Given the description of an element on the screen output the (x, y) to click on. 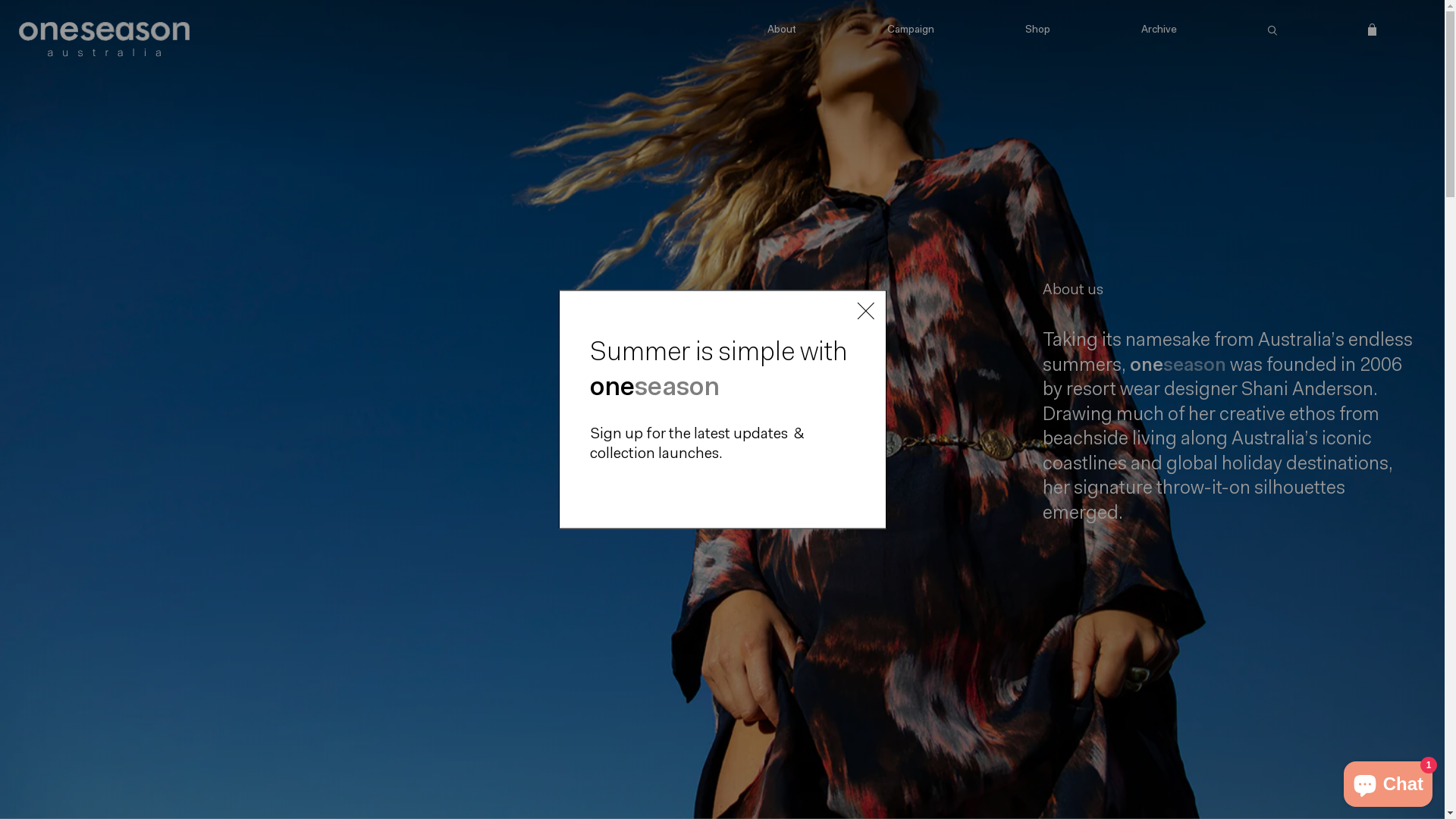
About Element type: text (781, 32)
Shop Element type: text (1037, 32)
Archive Element type: text (1158, 32)
Campaign Element type: text (910, 32)
Shopify online store chat Element type: hover (1388, 780)
